Given the description of an element on the screen output the (x, y) to click on. 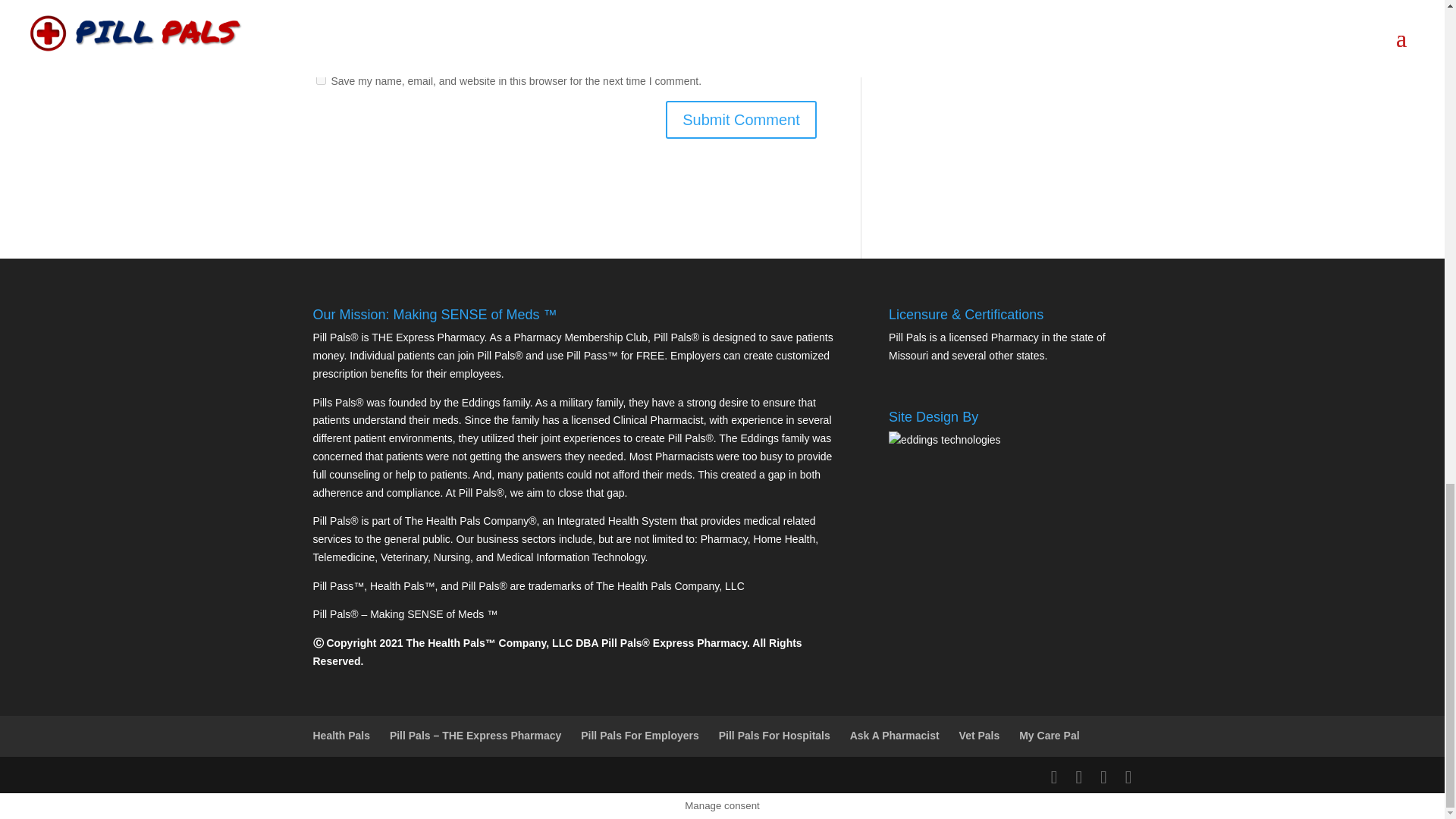
Submit Comment (740, 119)
Ask A Pharmacist (894, 735)
Pill Pals For Hospitals (774, 735)
yes (319, 80)
Vet Pals (979, 735)
Submit Comment (740, 119)
My Care Pal (1048, 735)
Pill Pals For Employers (639, 735)
Health Pals (341, 735)
